Given the description of an element on the screen output the (x, y) to click on. 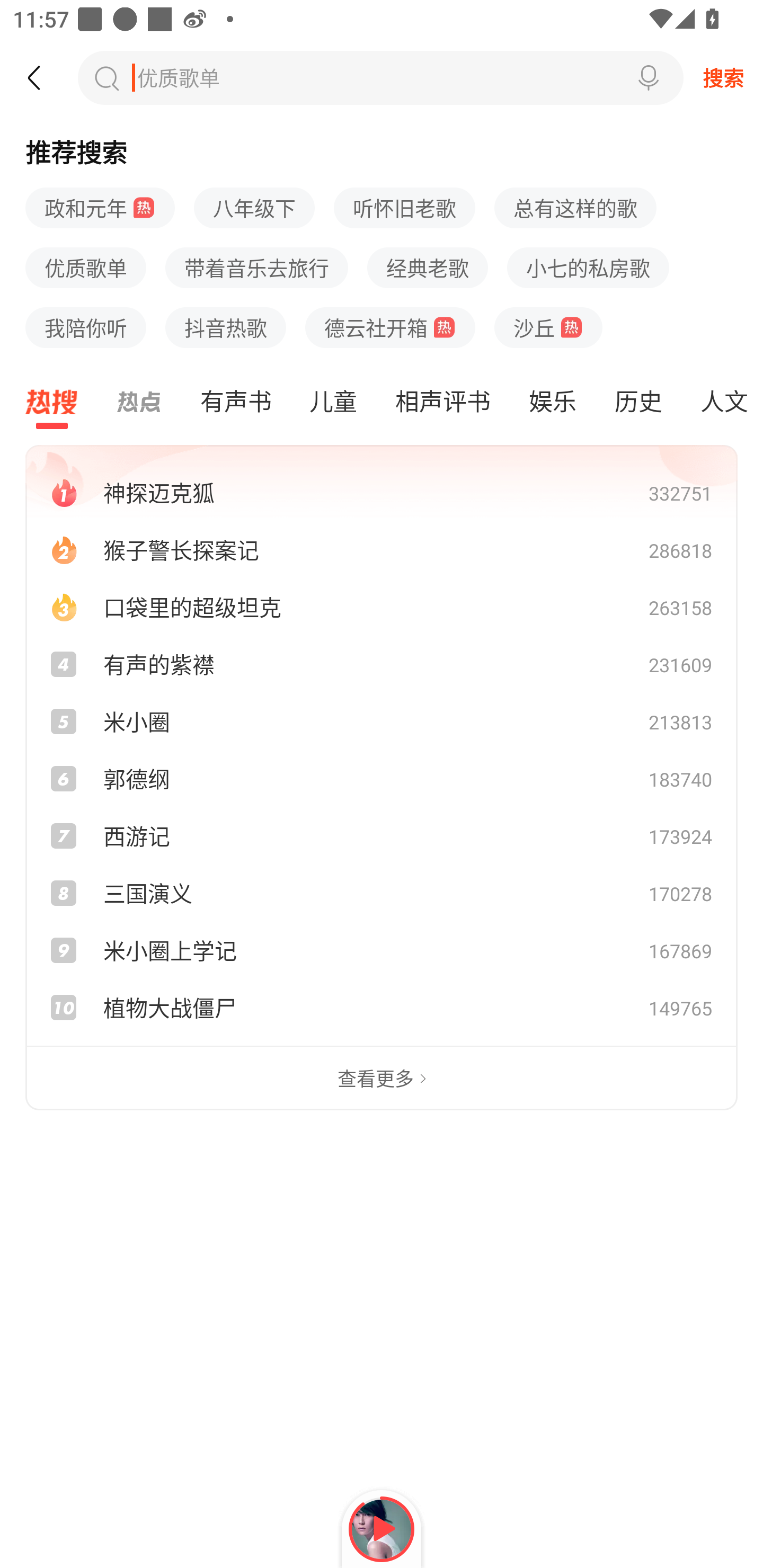
返回 (43, 77)
已经选择搜索功能,当前搜索框内容为优质歌单  优质歌单 语音搜索 (380, 77)
语音搜索 (648, 77)
搜索 (723, 77)
 优质歌单 (175, 77)
政和元年 (99, 208)
八年级下 (253, 208)
听怀旧老歌 (404, 208)
总有这样的歌 (575, 208)
优质歌单 (85, 267)
带着音乐去旅行 (256, 267)
经典老歌 (427, 267)
小七的私房歌 (588, 267)
我陪你听 (85, 327)
抖音热歌 (225, 327)
德云社开箱 (390, 327)
沙丘 (548, 327)
热搜 (51, 401)
热点 (138, 401)
有声书 (235, 401)
儿童 (333, 401)
相声评书 (442, 401)
娱乐 (552, 401)
历史 (638, 401)
人文 (722, 401)
1 神探迈克狐 332751 (381, 492)
2 猴子警长探案记 286818 (381, 549)
3 口袋里的超级坦克 263158 (381, 606)
4 有声的紫襟 231609 (381, 664)
5 米小圈 213813 (381, 721)
6 郭德纲 183740 (381, 778)
7 西游记 173924 (381, 835)
8 三国演义 170278 (381, 892)
9 米小圈上学记 167869 (381, 949)
10 植物大战僵尸 149765 (381, 1007)
查看更多 (381, 1078)
继续播放Alpha-橘子海OrangeOcean (381, 1529)
